Given the description of an element on the screen output the (x, y) to click on. 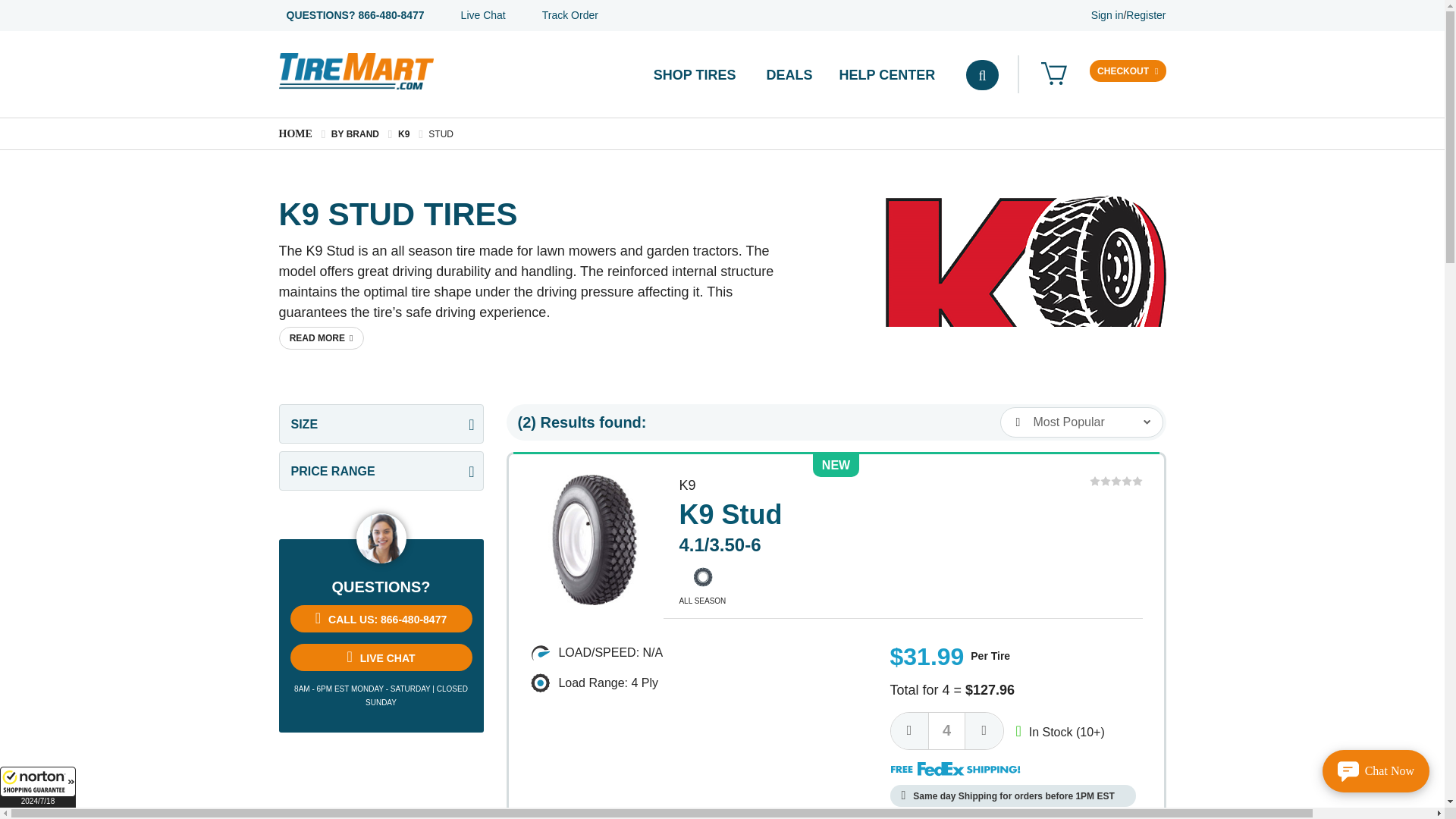
Sign in (1107, 15)
Register (1145, 15)
SHOP TIRES (698, 75)
Track Order (569, 15)
TireMart.com (356, 71)
Live Chat (483, 15)
QUESTIONS? 866-480-8477 (355, 15)
4 (946, 730)
Unused iFrame 1 (37, 786)
